Given the description of an element on the screen output the (x, y) to click on. 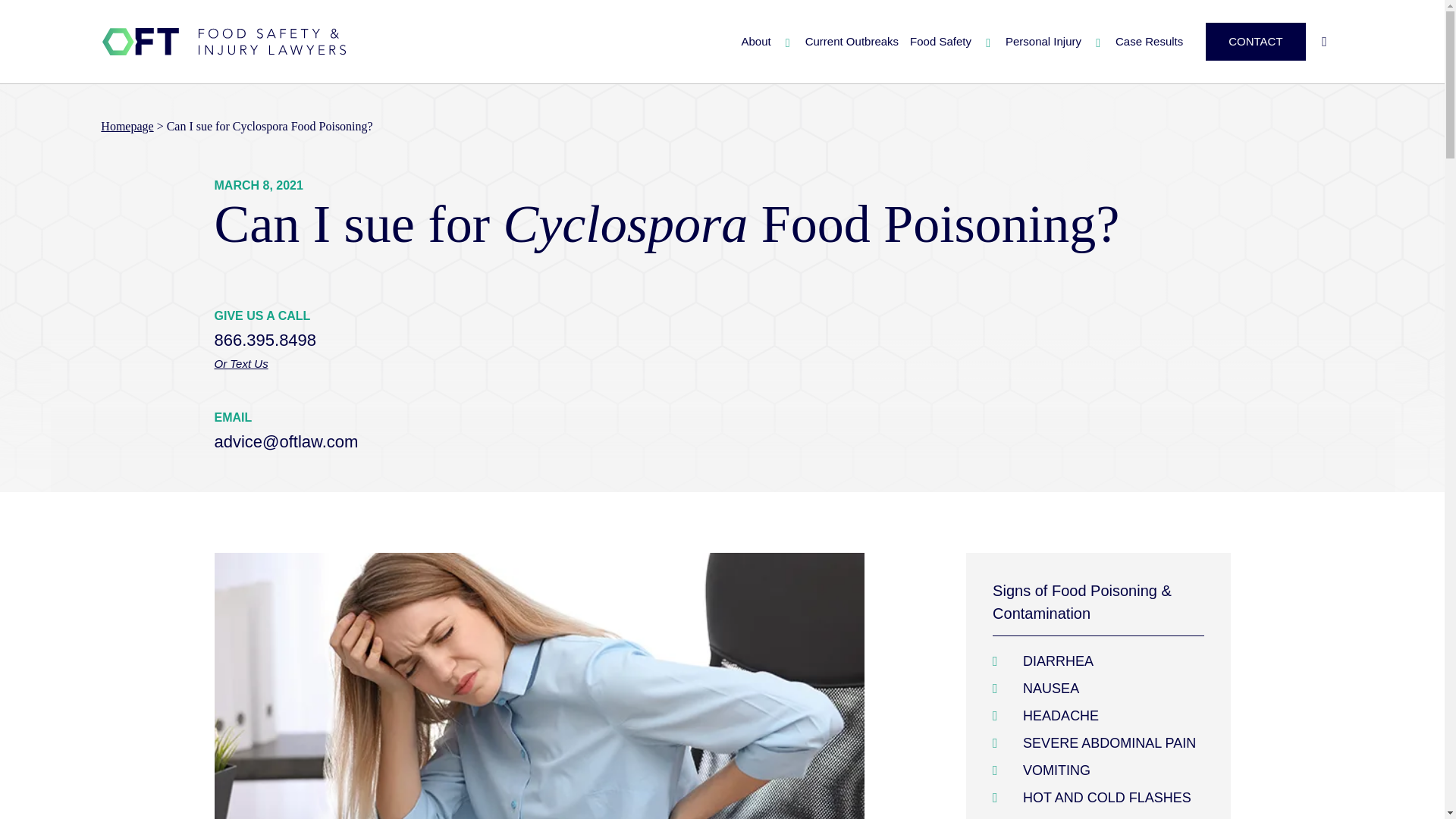
Text OFT Law (331, 363)
Case Results (1142, 41)
Personal Injury (1037, 41)
Call us today! (264, 339)
CONTACT (1254, 41)
Email us today! (286, 441)
About (749, 41)
Food Safety (934, 41)
Current Outbreaks (845, 41)
